Given the description of an element on the screen output the (x, y) to click on. 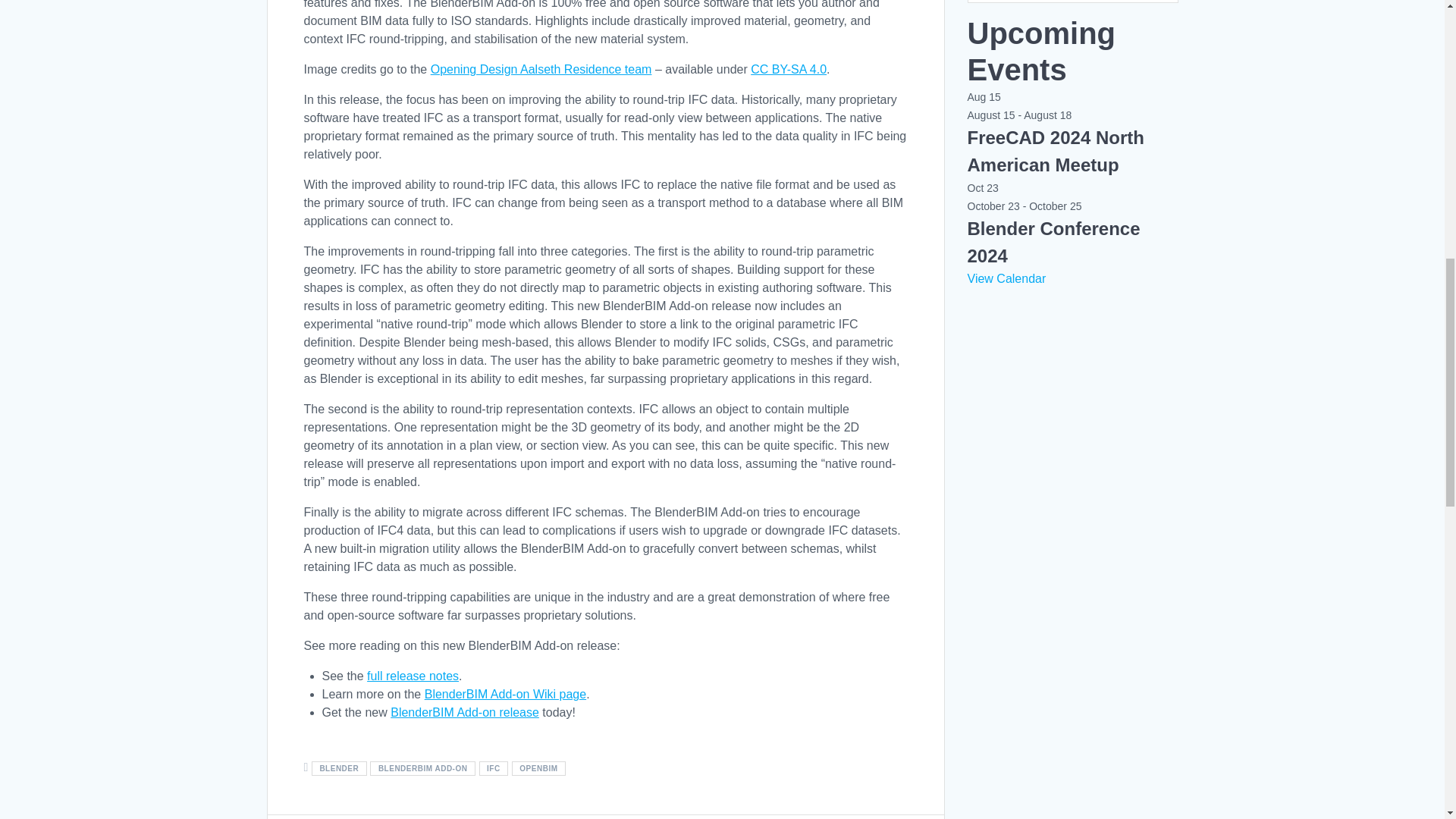
View more events. (1007, 278)
Opening Design Aalseth Residence team (541, 69)
BlenderBIM Add-on Wiki page (505, 694)
BLENDERBIM ADD-ON (422, 768)
full release notes (412, 675)
Blender Conference 2024 (1054, 242)
BLENDER (338, 768)
CC BY-SA 4.0 (789, 69)
FreeCAD 2024 North American Meetup (1056, 151)
BlenderBIM Add-on release (464, 712)
IFC (493, 768)
OPENBIM (539, 768)
